Given the description of an element on the screen output the (x, y) to click on. 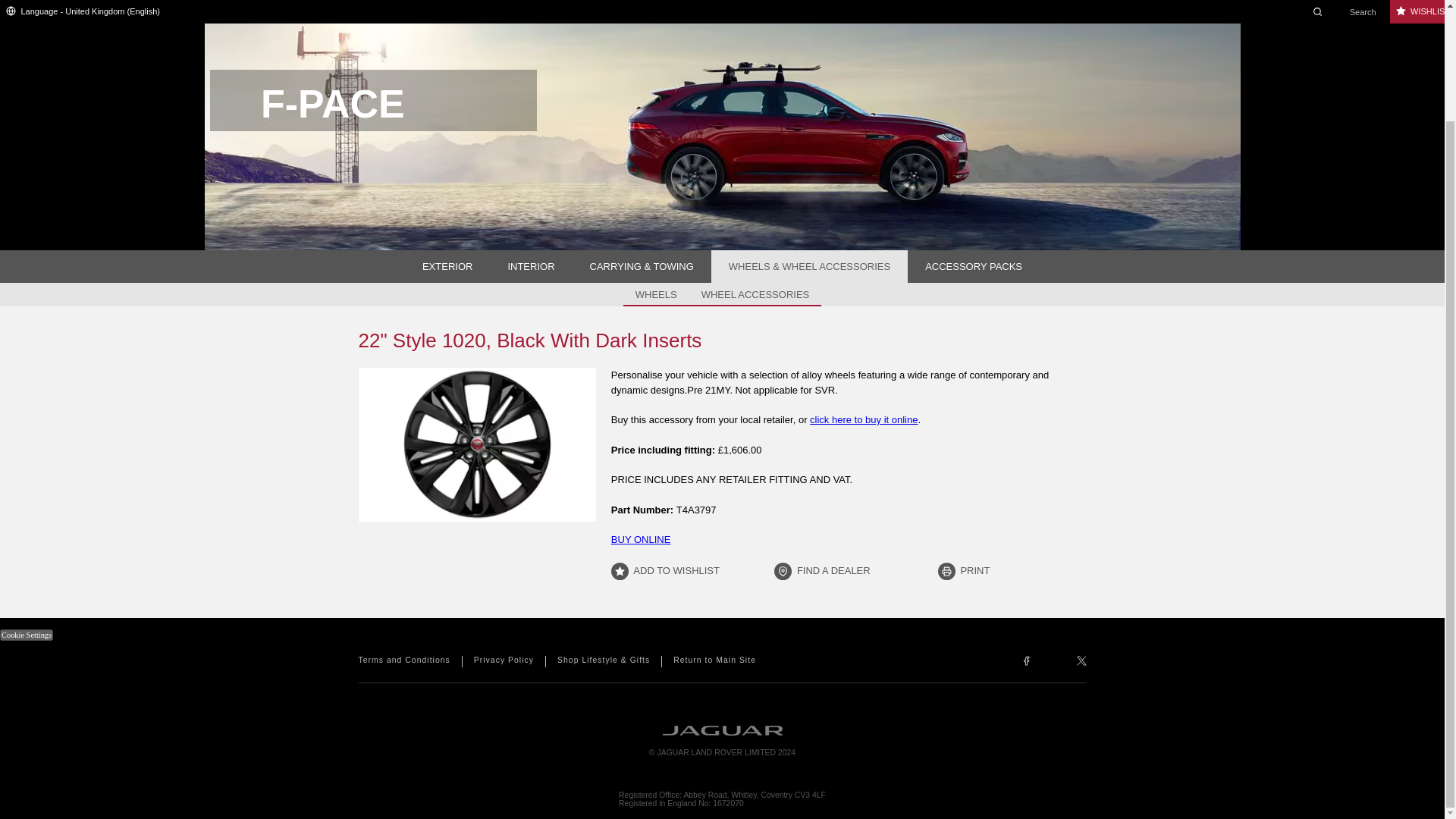
JAGUAR RANGE (647, 3)
FIND A RETAILER (792, 3)
